Given the description of an element on the screen output the (x, y) to click on. 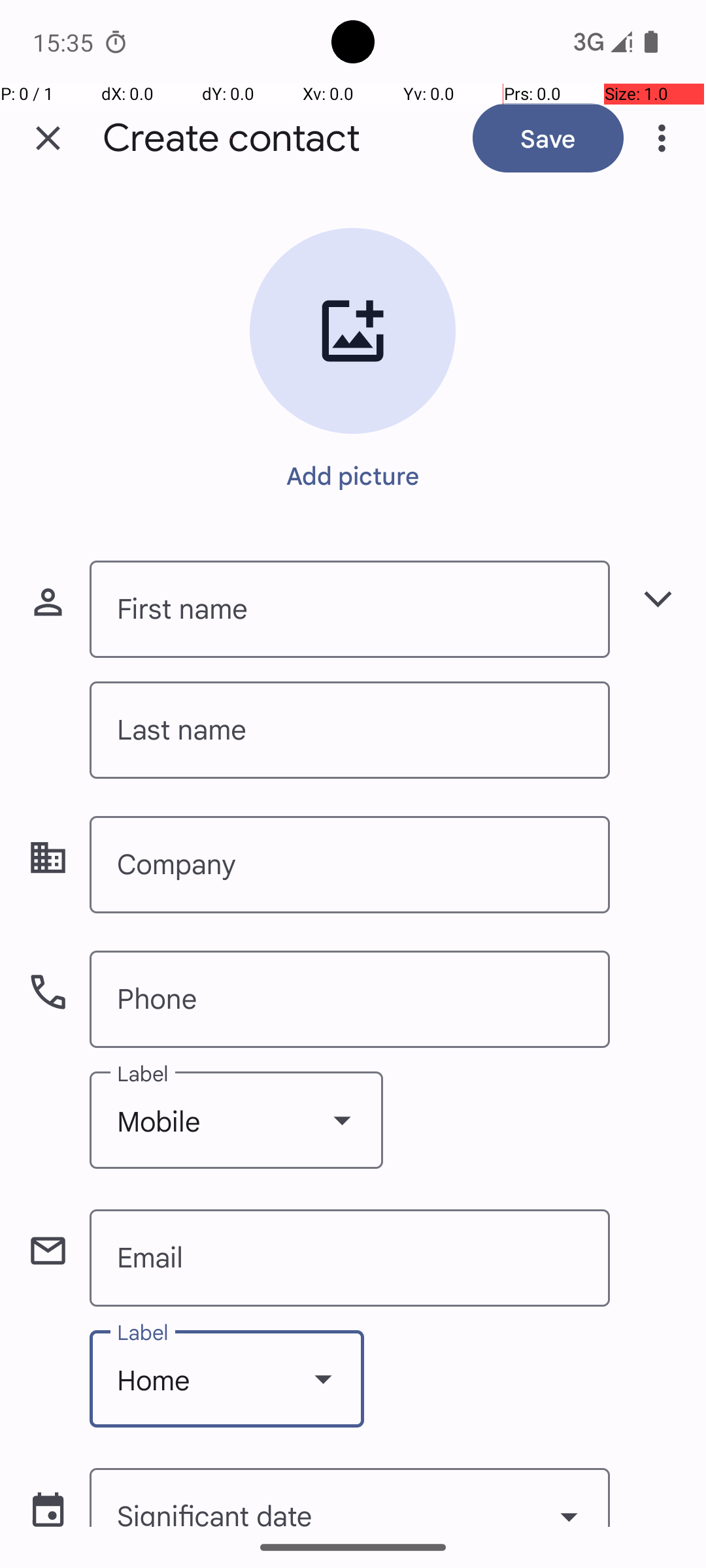
Add picture Element type: android.widget.Button (352, 474)
Significant date Element type: android.widget.EditText (349, 1497)
Show date picker Element type: android.widget.ImageButton (568, 1500)
